Given the description of an element on the screen output the (x, y) to click on. 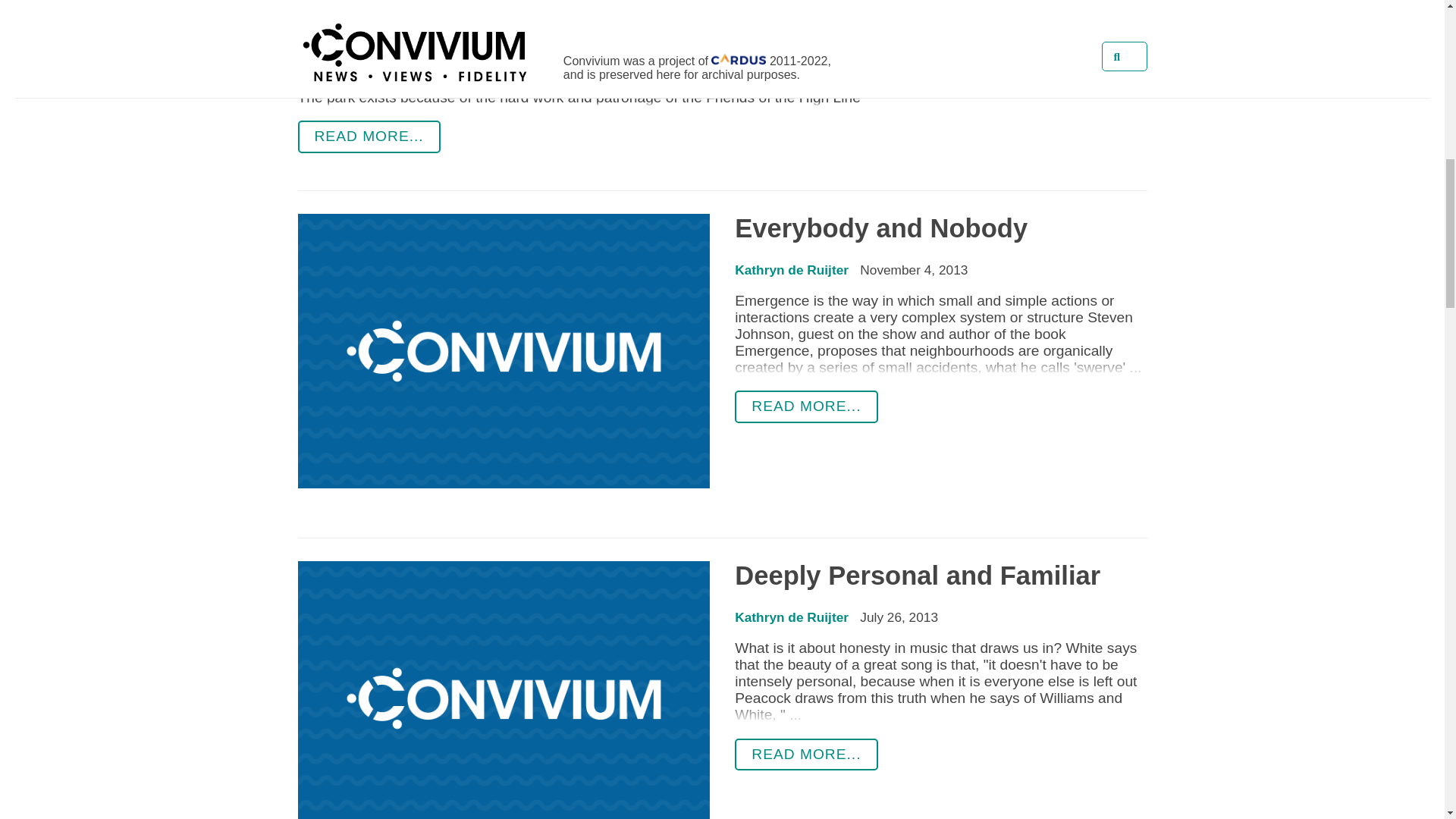
Everybody and Nobody (881, 227)
READ MORE... (806, 754)
Kathryn de Ruijter (791, 616)
Kathryn de Ruijter (373, 27)
READ MORE... (806, 406)
Kathryn de Ruijter (791, 269)
Deeply Personal and Familiar (917, 575)
READ MORE... (368, 136)
